Given the description of an element on the screen output the (x, y) to click on. 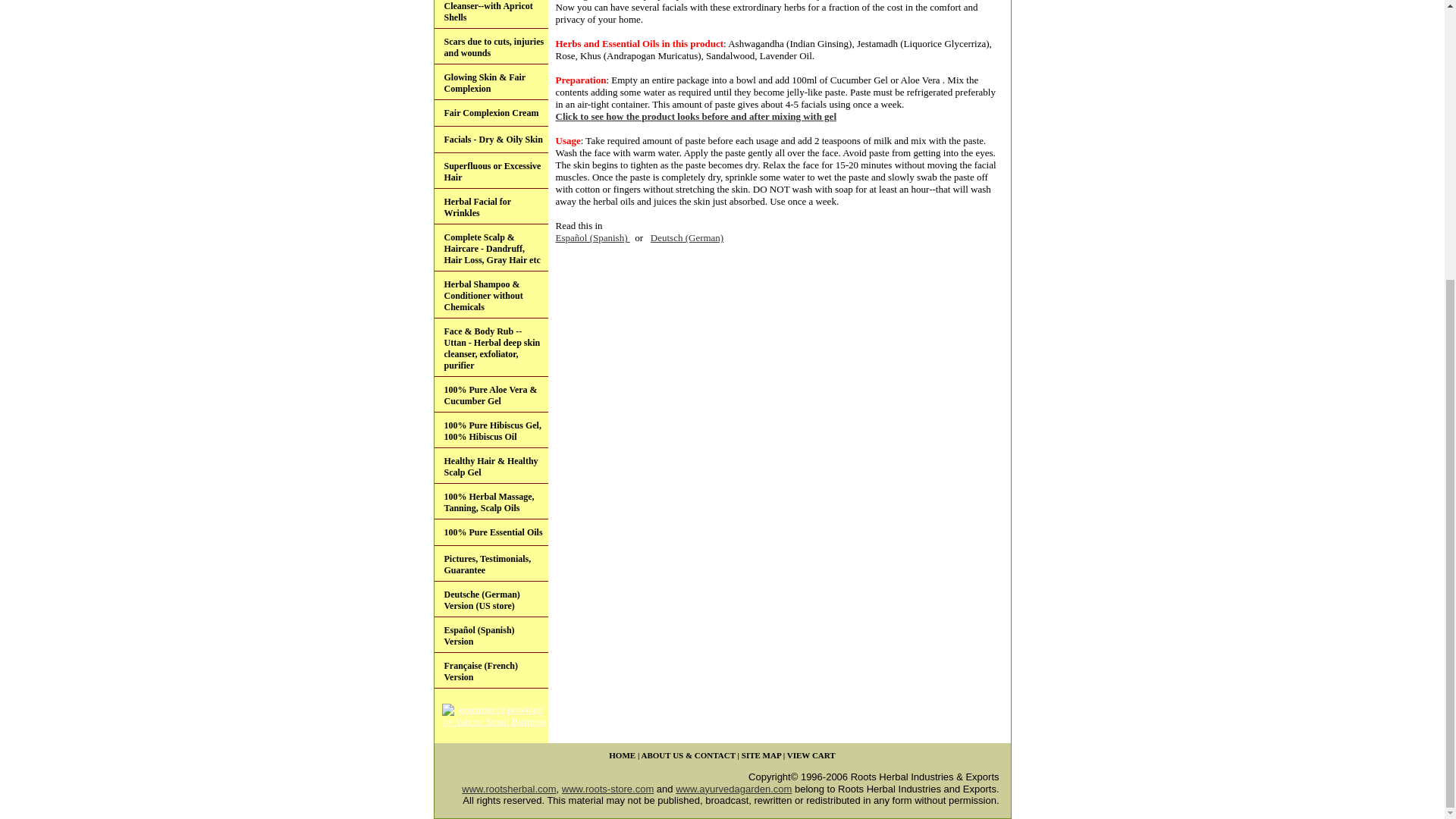
Herbal Facial for Wrinkles (490, 206)
Fair Complexion Cream (490, 112)
Superfluous or Excessive Hair (490, 171)
Superfluous or Excessive Hair (490, 171)
Pictures, Testimonials, Guarantee (490, 563)
Scars due to cuts, injuries and wounds (490, 46)
Scars due to cuts, injuries and wounds (490, 46)
Herbal Facial for Wrinkles (490, 206)
Body Scrub and Cleanser--with Apricot Shells (490, 14)
Body Scrub and Cleanser--with Apricot Shells (490, 14)
Fair Complexion Cream (490, 112)
